Given the description of an element on the screen output the (x, y) to click on. 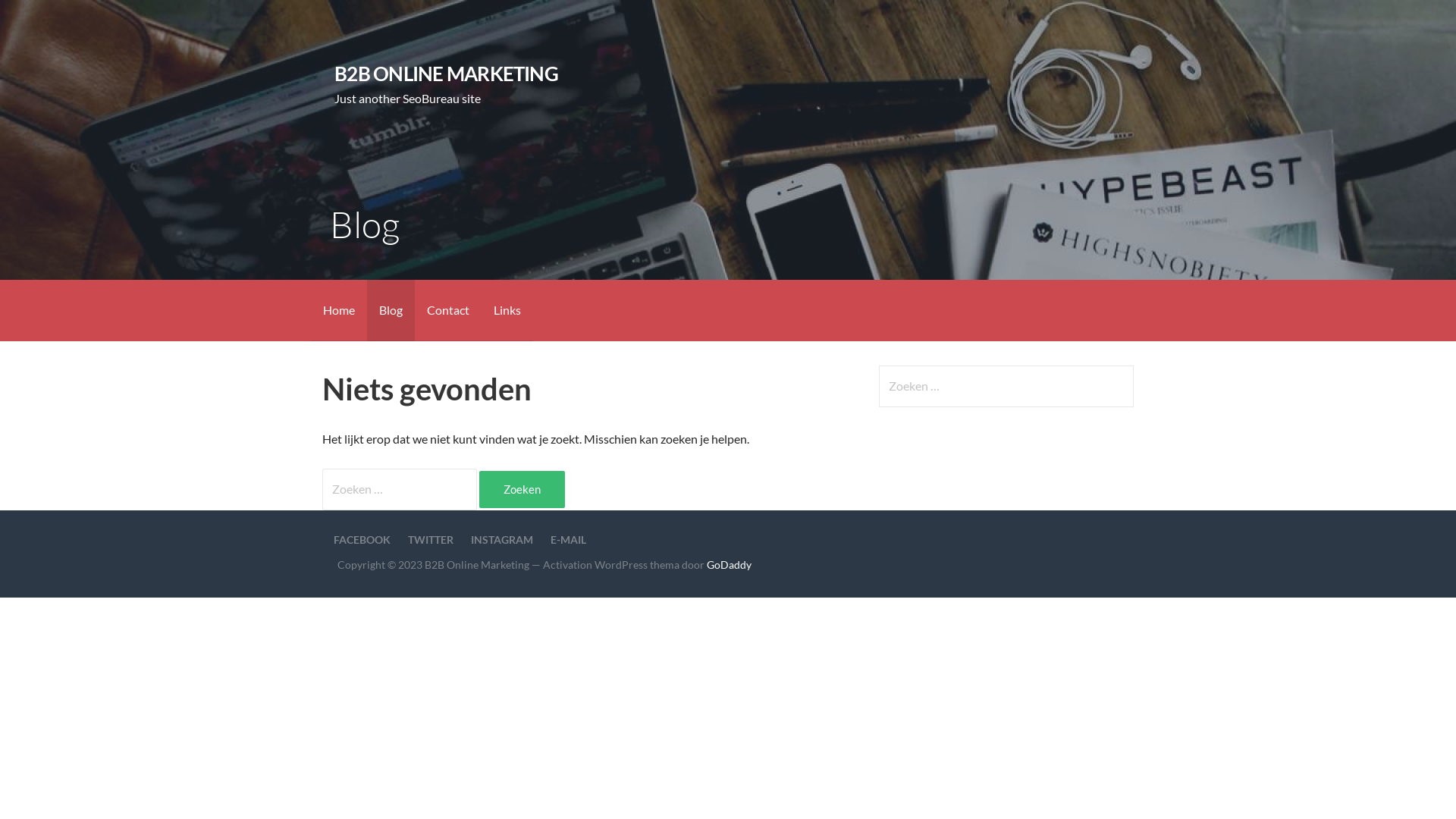
Zoeken Element type: text (521, 489)
Zoeken Element type: text (42, 18)
Contact Element type: text (447, 310)
E-MAIL Element type: text (568, 539)
Links Element type: text (507, 310)
Home Element type: text (338, 310)
INSTAGRAM Element type: text (501, 539)
B2B ONLINE MARKETING Element type: text (446, 73)
GoDaddy Element type: text (728, 564)
FACEBOOK Element type: text (361, 539)
TWITTER Element type: text (430, 539)
Blog Element type: text (390, 310)
